Given the description of an element on the screen output the (x, y) to click on. 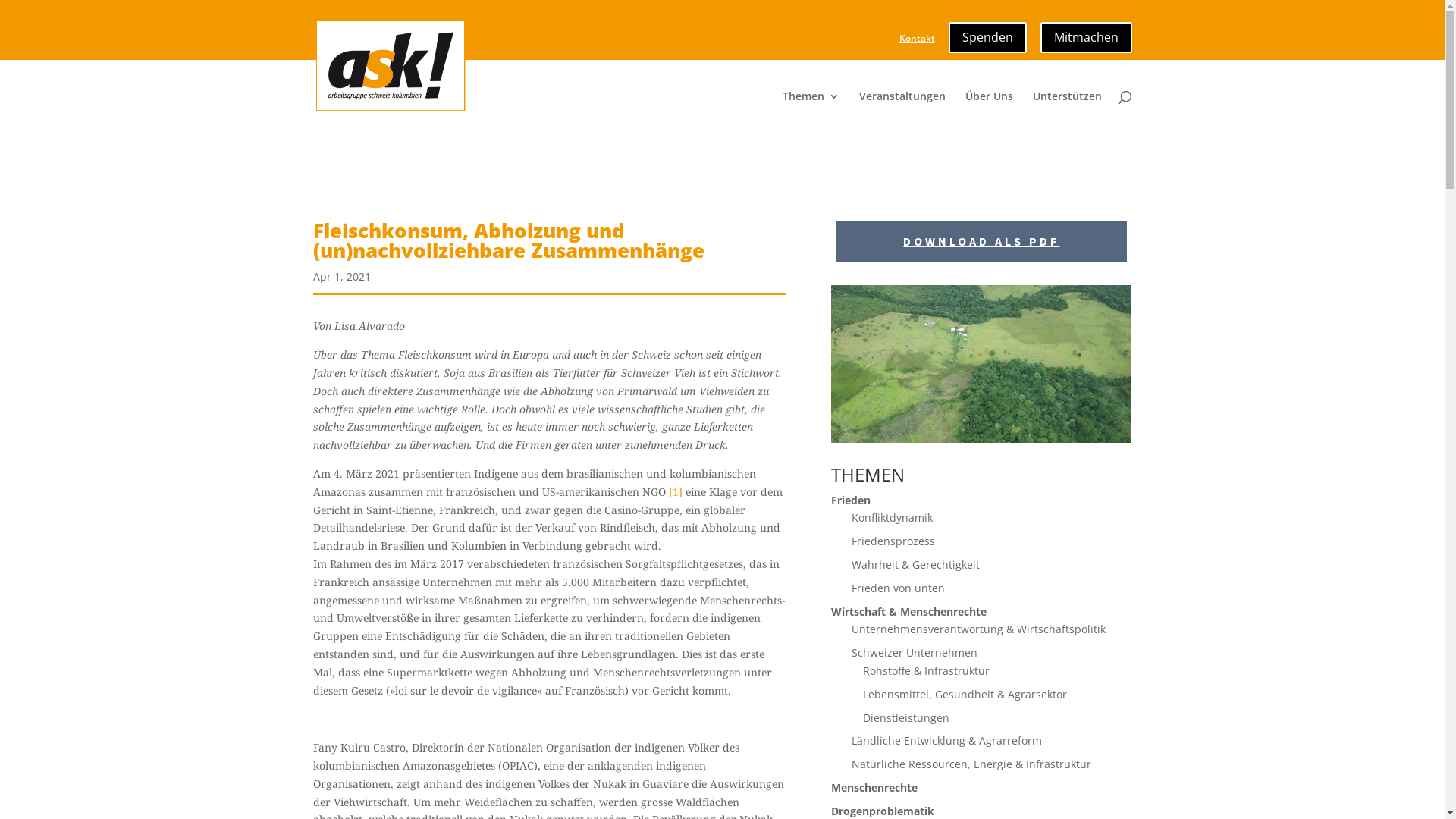
[1] Element type: text (675, 491)
Kontakt Element type: text (917, 42)
Veranstaltungen Element type: text (901, 111)
Themen Element type: text (810, 111)
Menschenrechte Element type: text (874, 787)
Wirtschaft & Menschenrechte Element type: text (908, 611)
Drogenproblematik Element type: text (882, 810)
DOWNLOAD ALS PDF Element type: text (980, 241)
Mitmachen Element type: text (1086, 32)
Frieden Element type: text (850, 499)
Spenden Element type: text (986, 32)
lucha contra deforestacion Element type: hover (981, 363)
